Given the description of an element on the screen output the (x, y) to click on. 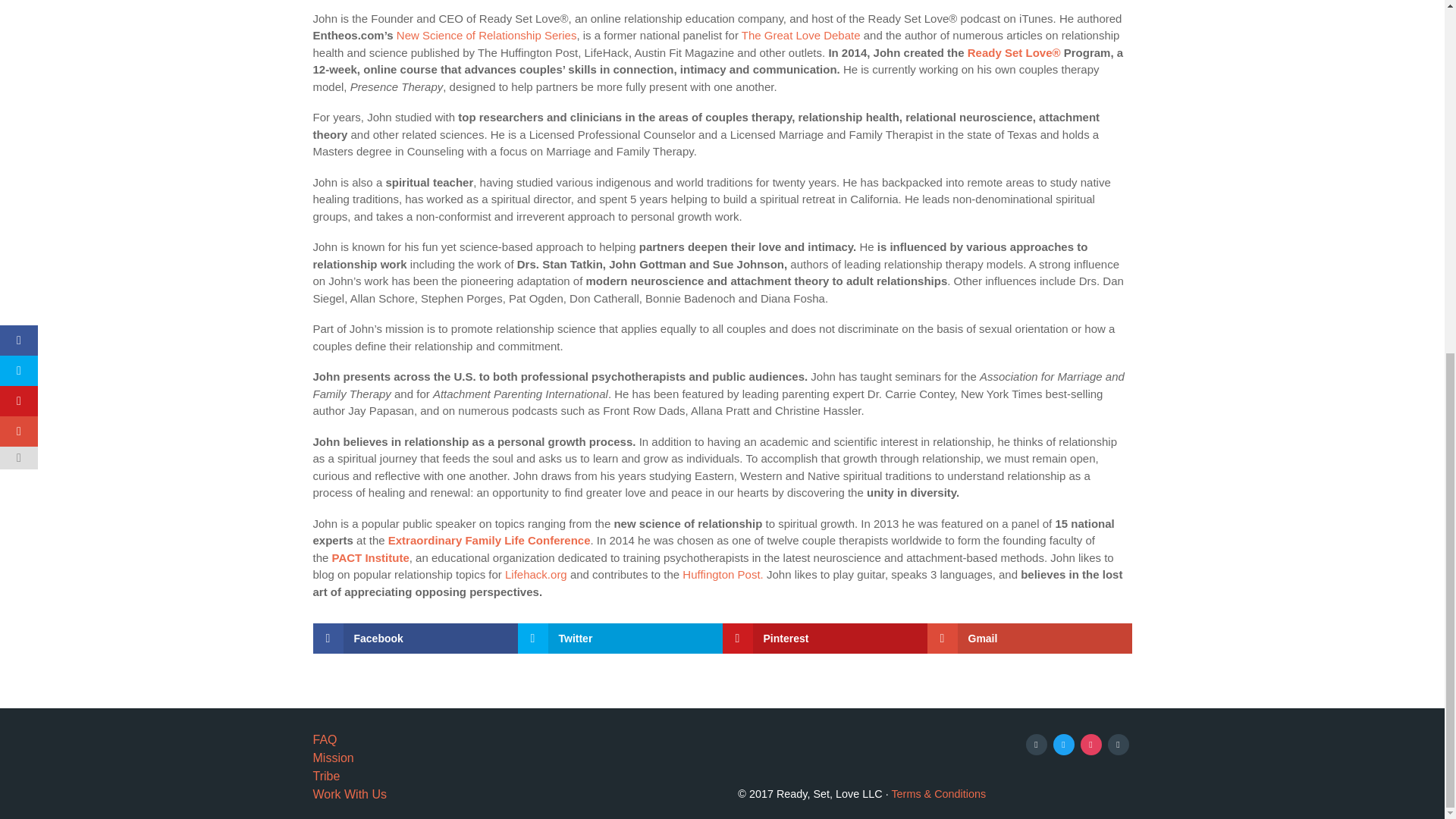
Extraordinary Family Life Conference (489, 540)
Pinterest (824, 638)
Instagram (1090, 743)
New Science of Relationship Series (486, 34)
Default Label (1117, 743)
PACT Institute (370, 557)
Lifehack.org (536, 574)
Gmail (1028, 638)
Tribe (326, 775)
The Great Love Debate (800, 34)
Mission (333, 757)
FAQ (324, 739)
Facebook (1035, 743)
Facebook (414, 638)
Huffington Post. (722, 574)
